Given the description of an element on the screen output the (x, y) to click on. 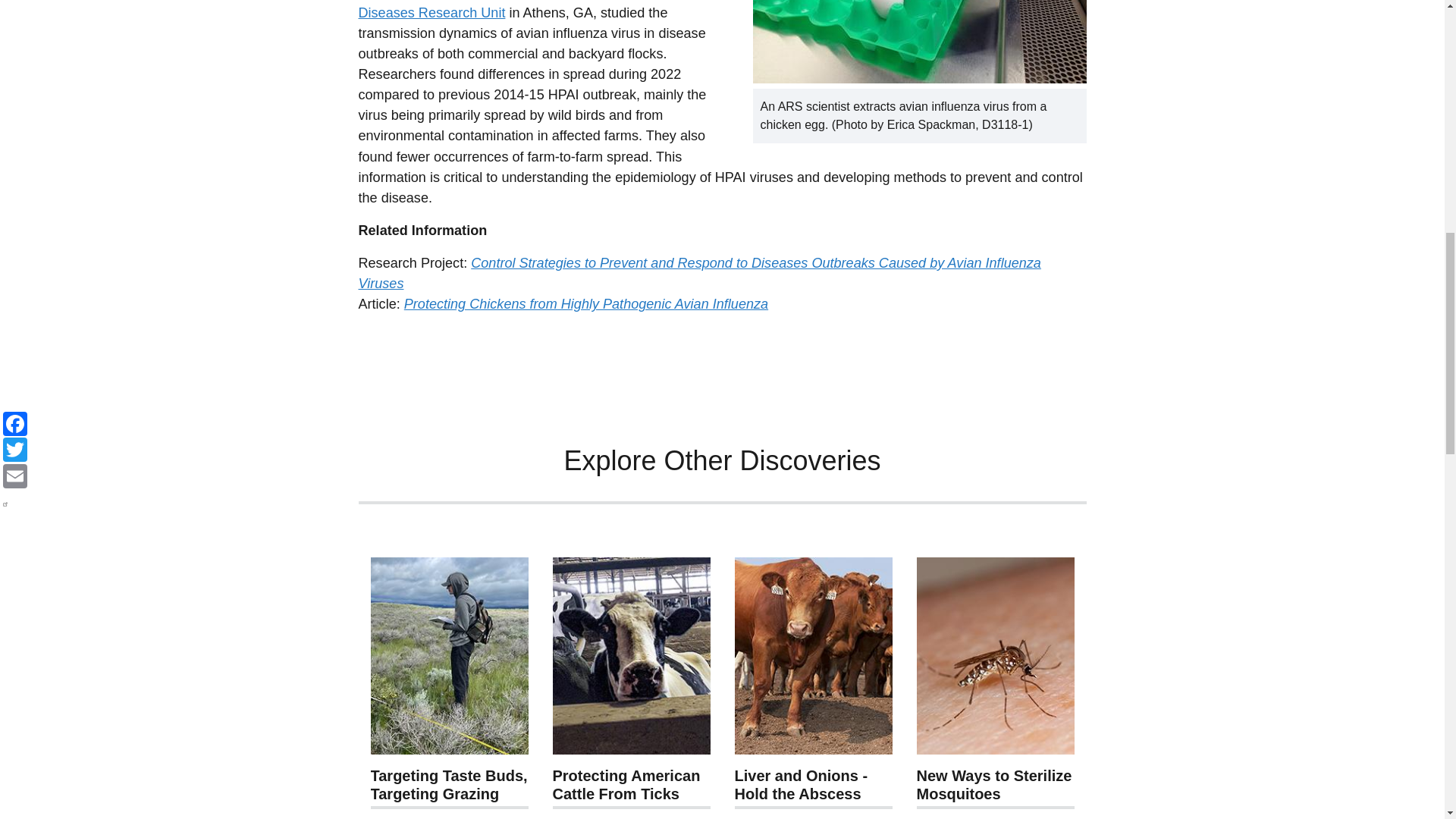
Protecting Chickens from Highly Pathogenic Avian Influenza (586, 304)
D3118 1AI (919, 41)
